Given the description of an element on the screen output the (x, y) to click on. 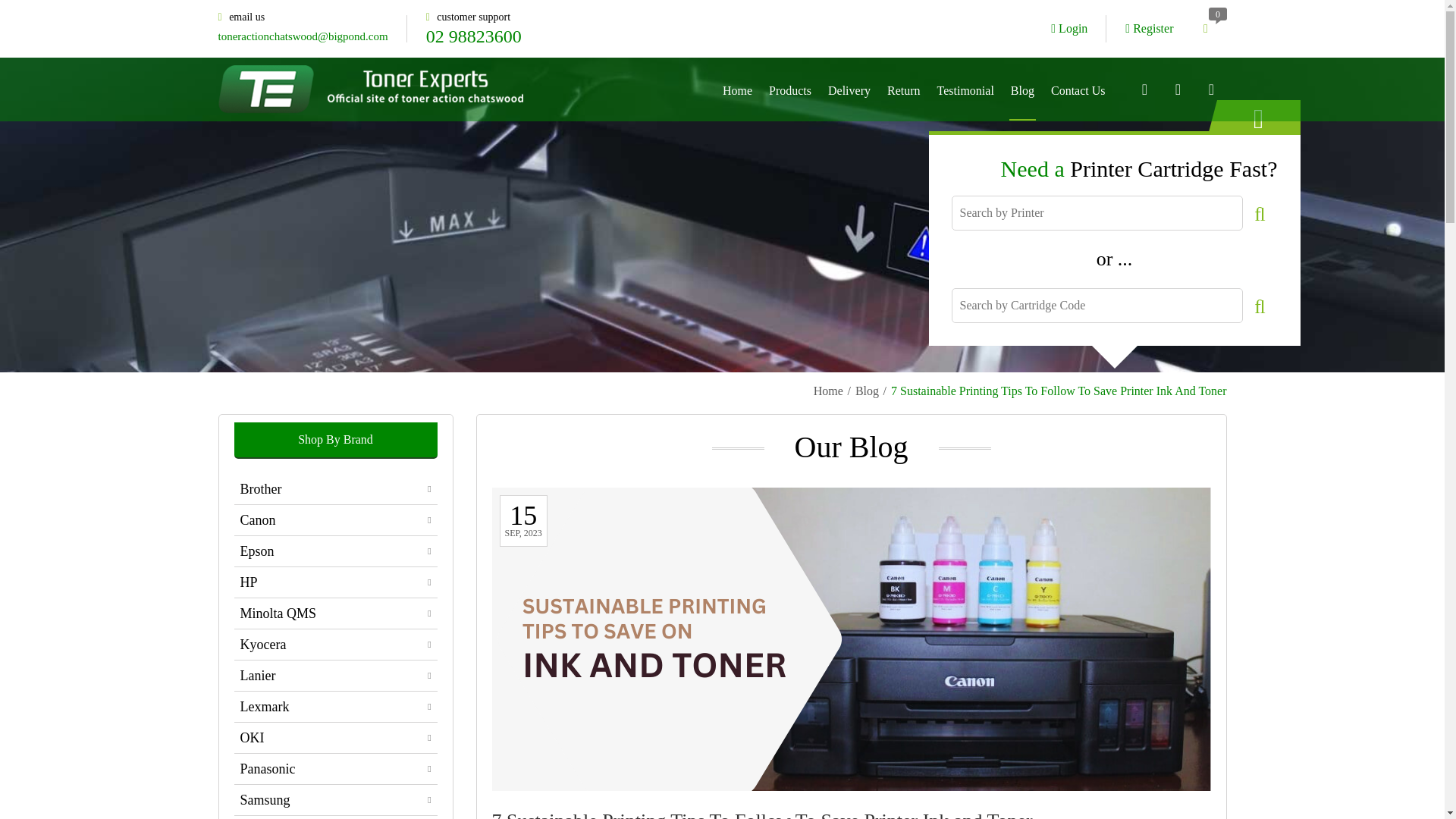
Home (828, 391)
Epson (334, 551)
Testimonial (965, 89)
Blog (867, 391)
Testimonial (965, 89)
Brother (334, 489)
Canon (334, 520)
Register (1149, 28)
Login (1069, 28)
Contact Us (1077, 89)
